Given the description of an element on the screen output the (x, y) to click on. 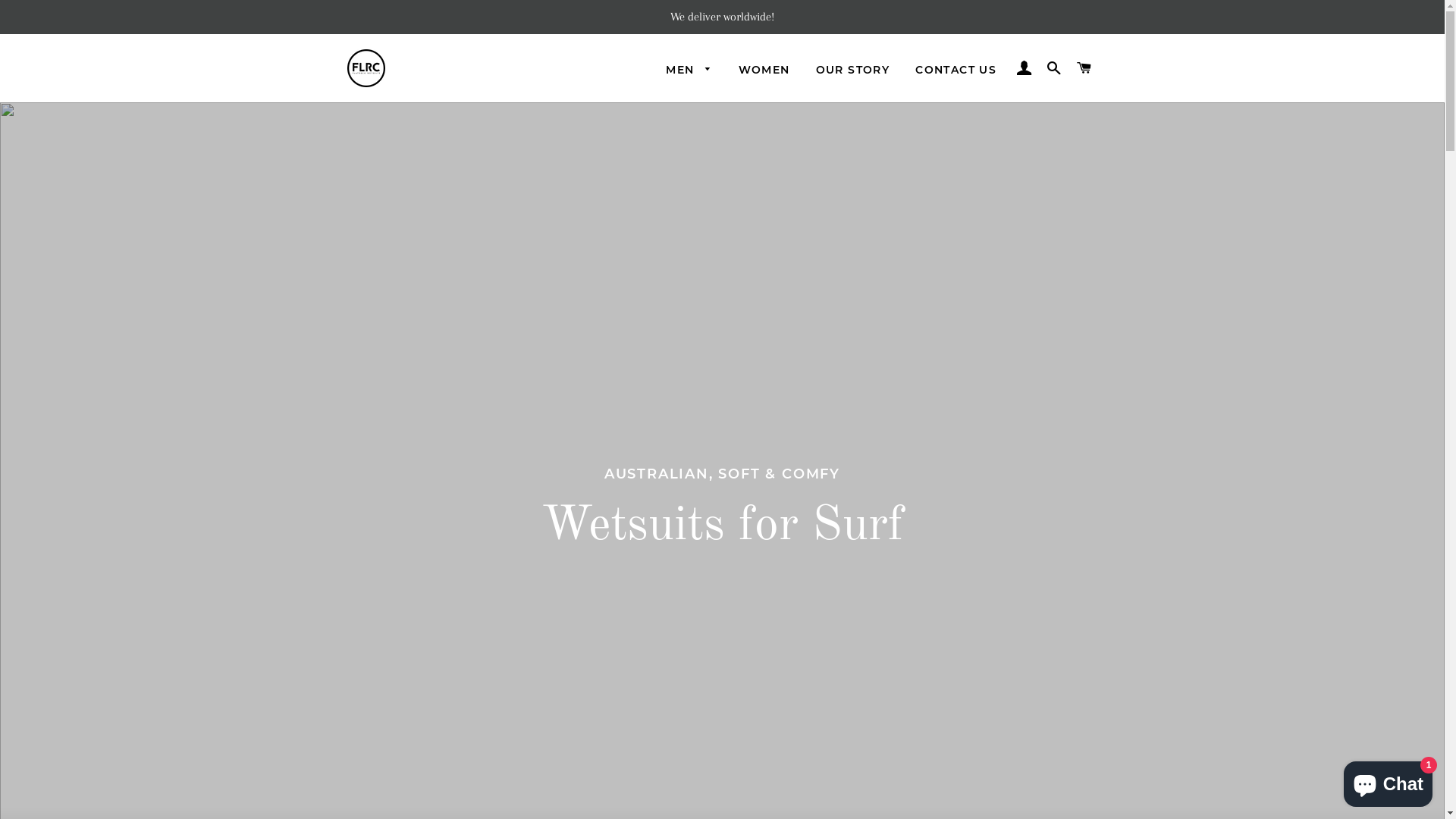
SEARCH Element type: text (1054, 68)
WOMEN Element type: text (764, 70)
CONTACT US Element type: text (955, 70)
Shopify online store chat Element type: hover (1388, 780)
OUR STORY Element type: text (852, 70)
We deliver worldwide! Element type: text (722, 17)
MEN Element type: text (689, 70)
LOG IN Element type: text (1023, 68)
CART Element type: text (1083, 68)
